Given the description of an element on the screen output the (x, y) to click on. 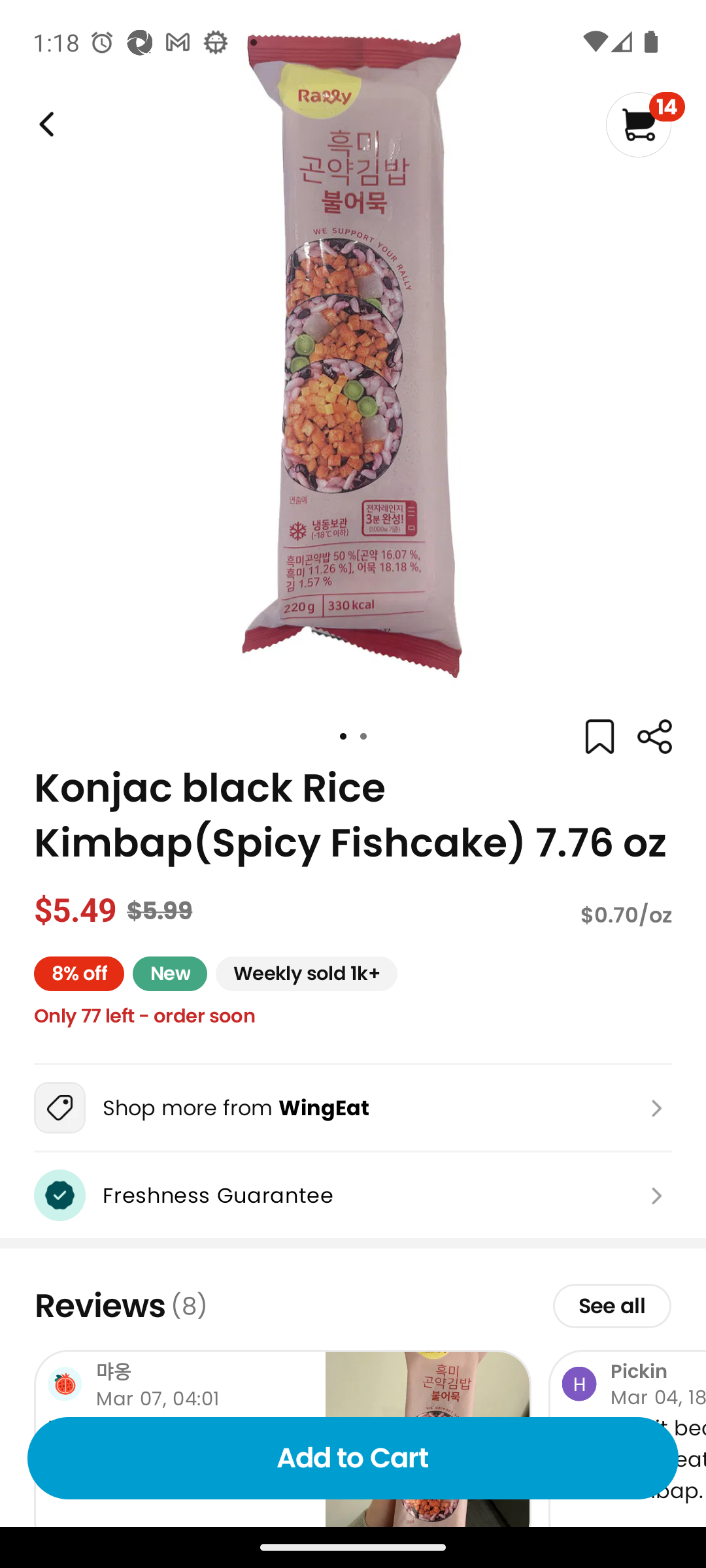
14 (644, 124)
Weee! (45, 124)
Weee! (653, 736)
Shop more from WingEat Weee! (352, 1107)
Freshness Guarantee (352, 1195)
Reviews (8) See all (353, 1305)
Add to Cart (352, 1458)
